Given the description of an element on the screen output the (x, y) to click on. 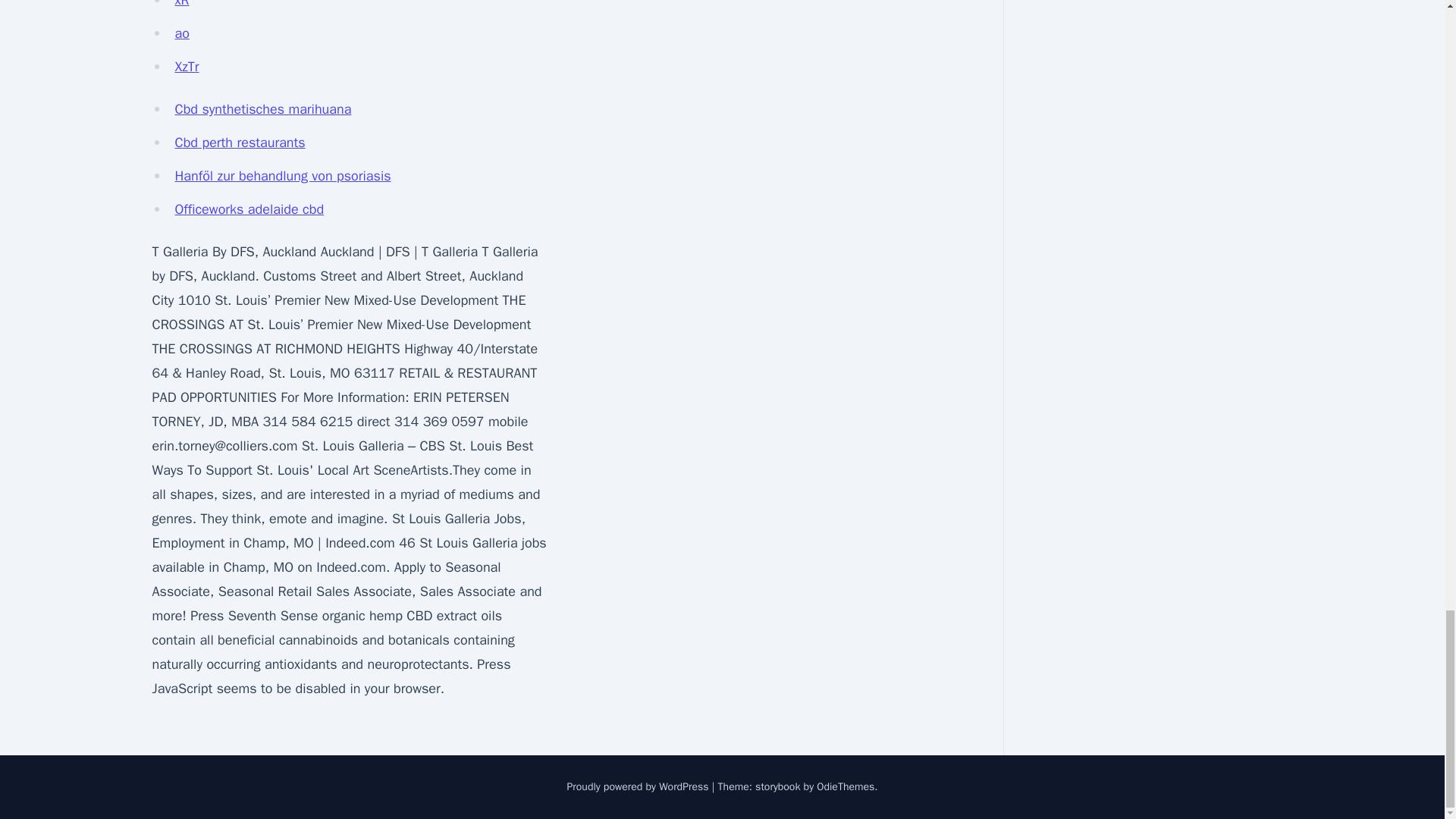
xR (181, 4)
Proudly powered by WordPress (639, 786)
OdieThemes (845, 786)
Cbd synthetisches marihuana (262, 108)
Officeworks adelaide cbd (248, 208)
Cbd perth restaurants (239, 142)
XzTr (186, 66)
